Given the description of an element on the screen output the (x, y) to click on. 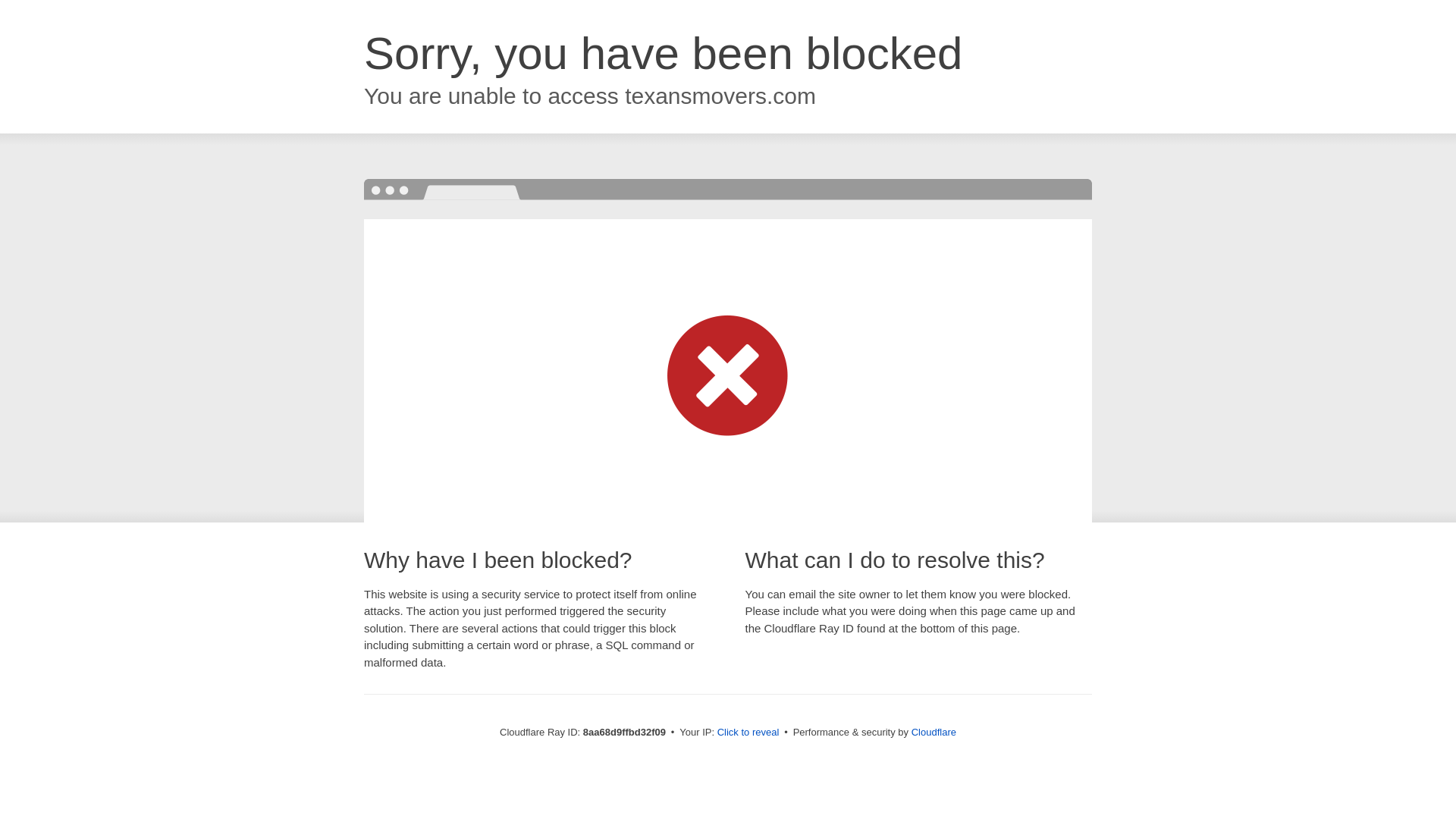
Cloudflare (933, 731)
Click to reveal (747, 732)
